Given the description of an element on the screen output the (x, y) to click on. 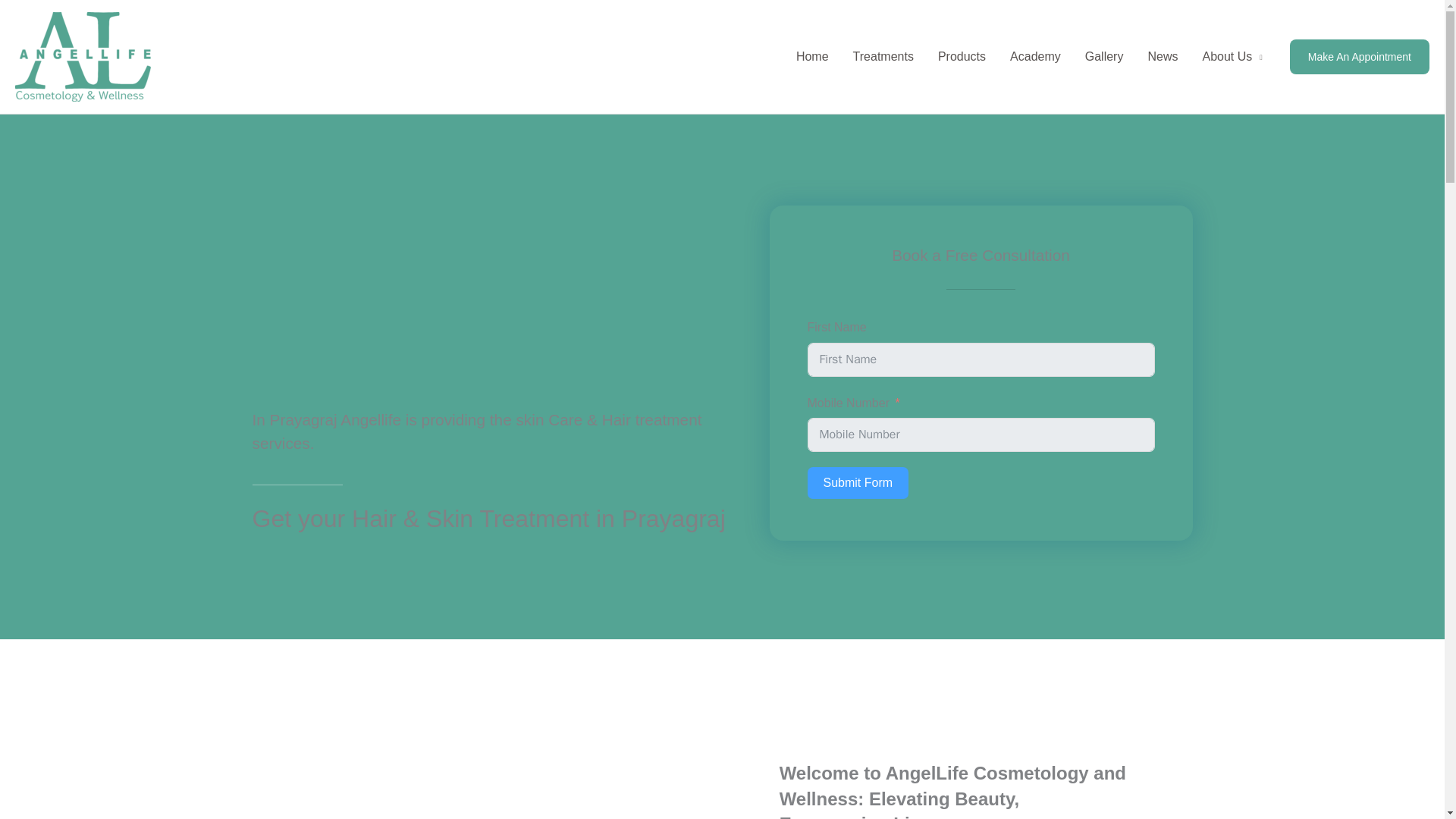
Submit Form (857, 482)
About Us (1231, 56)
Gallery (1104, 56)
Make An Appointment (1359, 56)
Home (812, 56)
News (1162, 56)
Academy (1035, 56)
Products (961, 56)
Treatments (883, 56)
